Given the description of an element on the screen output the (x, y) to click on. 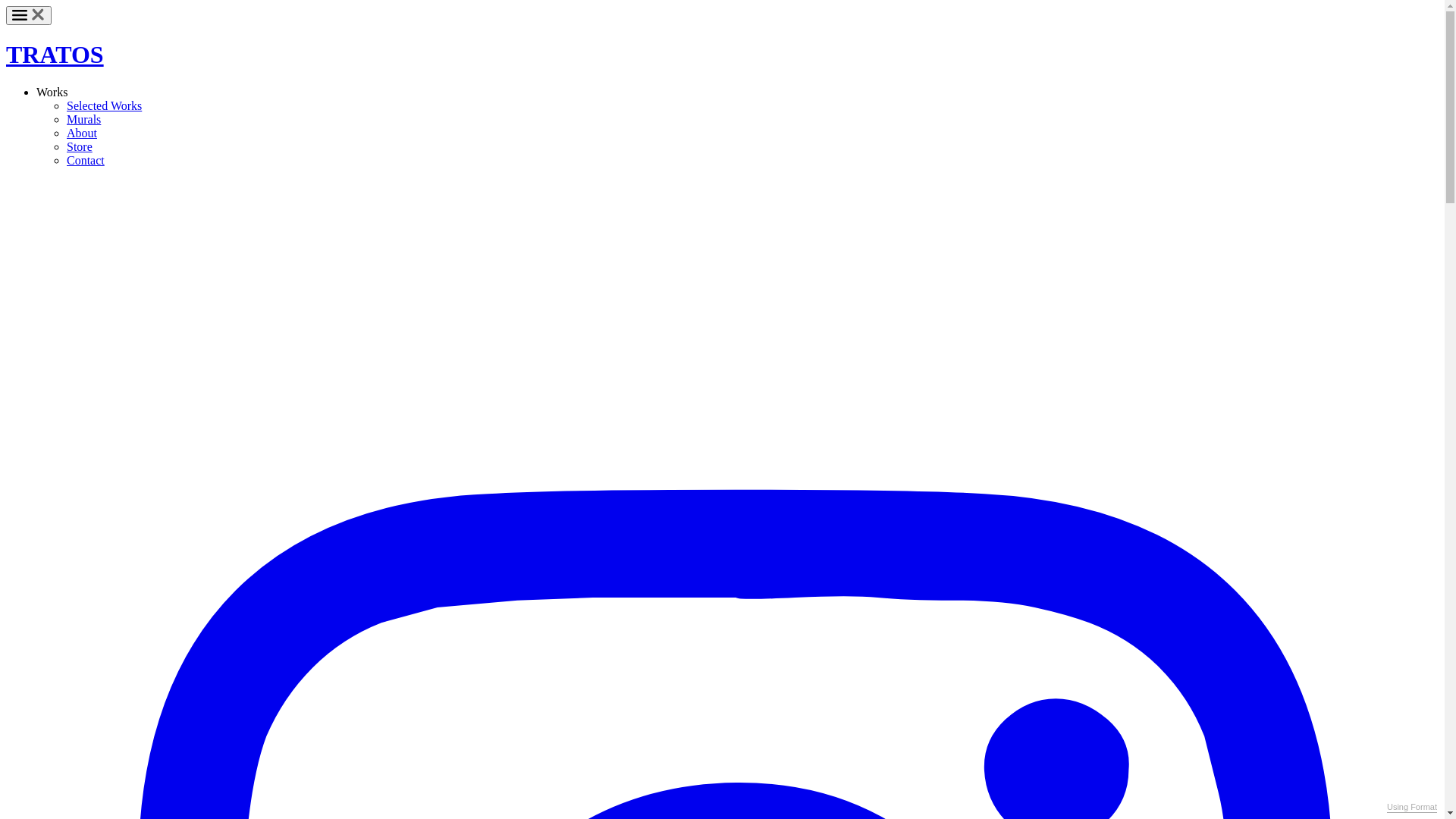
Using Format Element type: text (1411, 807)
Contact Element type: text (85, 159)
About Element type: text (81, 132)
Murals Element type: text (83, 118)
Store Element type: text (79, 146)
Works Element type: text (51, 91)
Selected Works Element type: text (103, 105)
TRATOS Element type: text (54, 54)
